Given the description of an element on the screen output the (x, y) to click on. 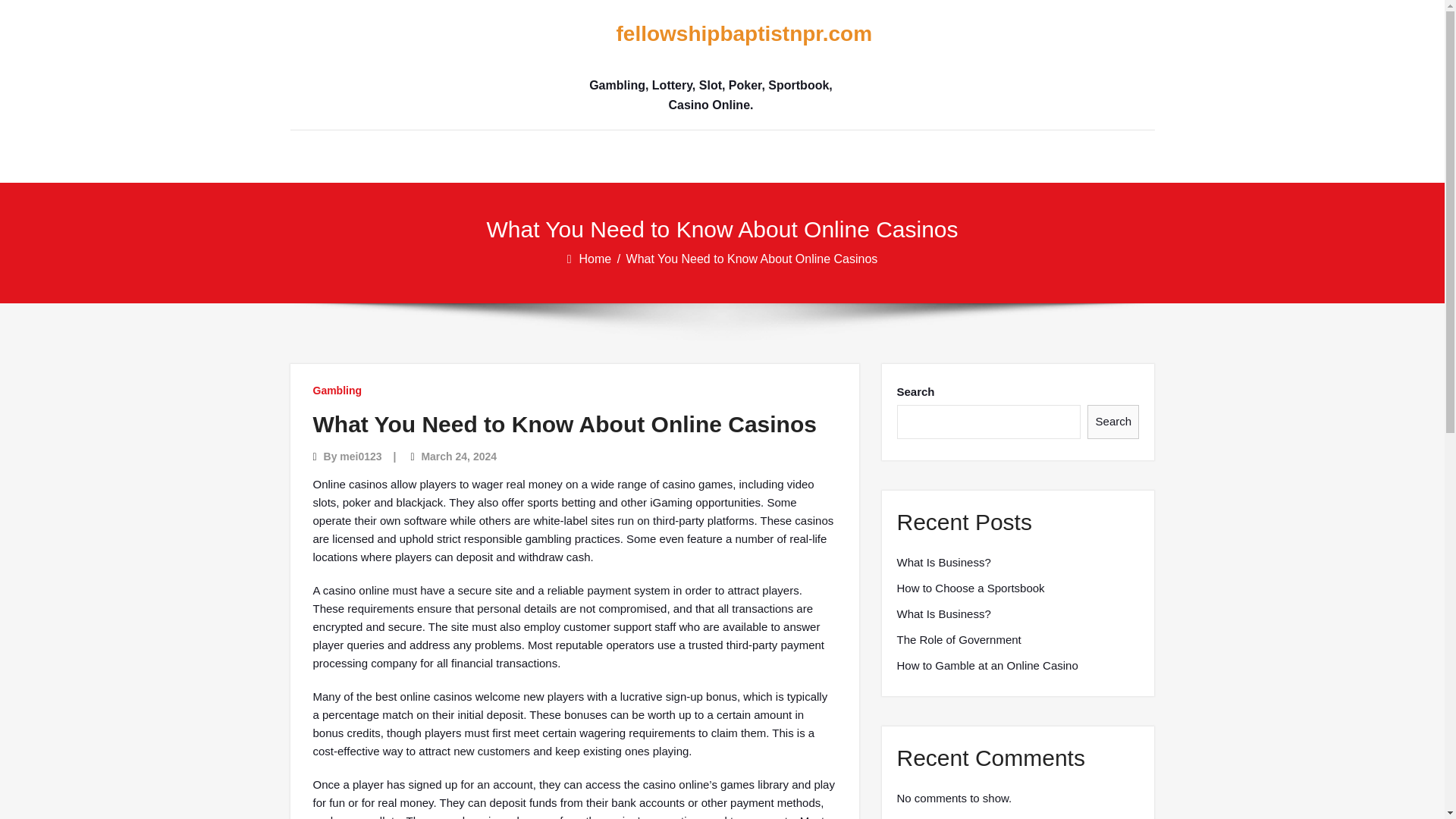
mei0123 (360, 456)
Home (596, 258)
Search (1112, 421)
What Is Business? (943, 562)
fellowshipbaptistnpr.com (710, 34)
What Is Business? (943, 614)
How to Choose a Sportsbook (969, 588)
March 24, 2024 (458, 456)
Gambling (337, 390)
The Role of Government (958, 639)
